Given the description of an element on the screen output the (x, y) to click on. 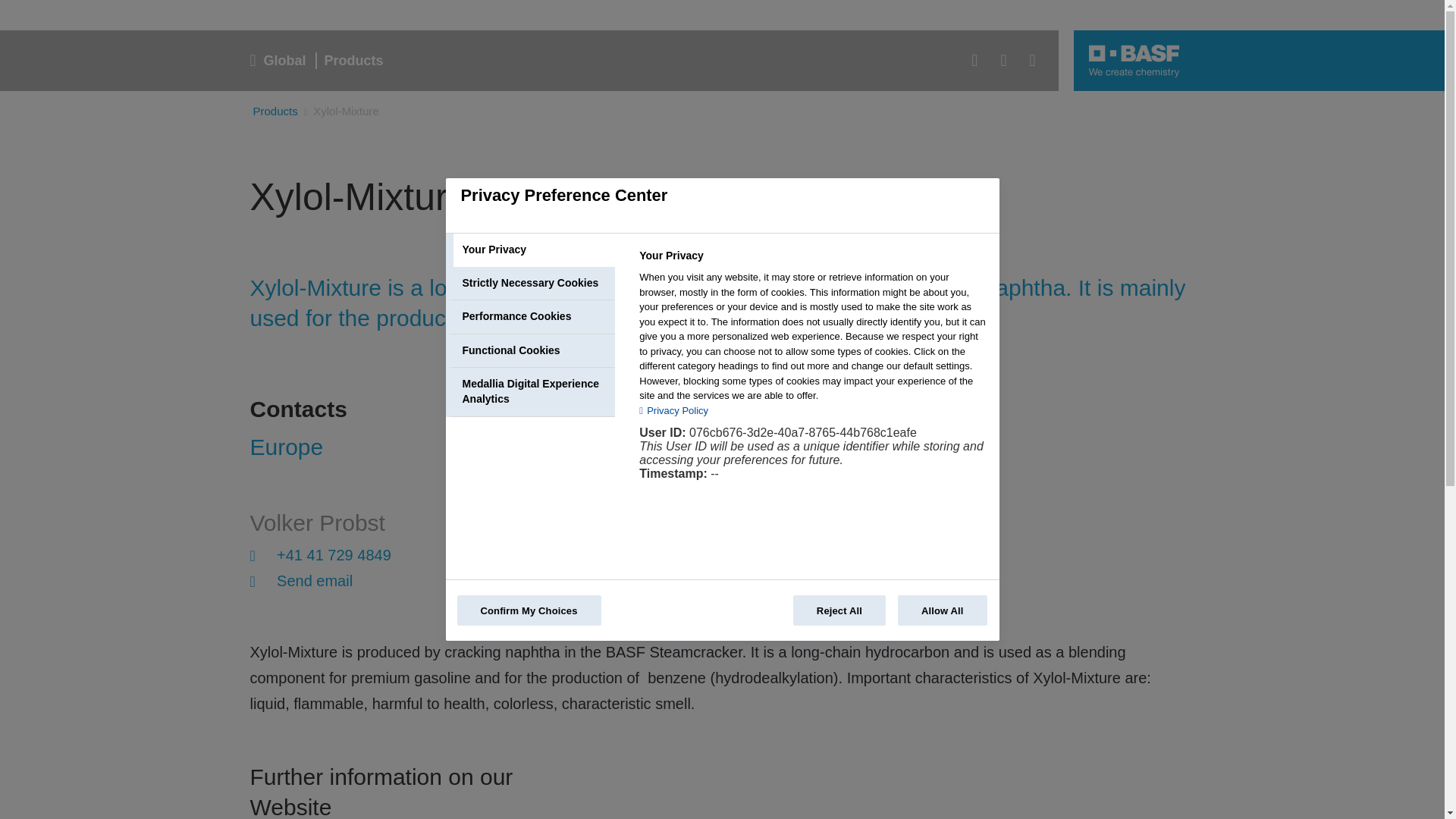
Products (275, 110)
Send email (317, 60)
